Given the description of an element on the screen output the (x, y) to click on. 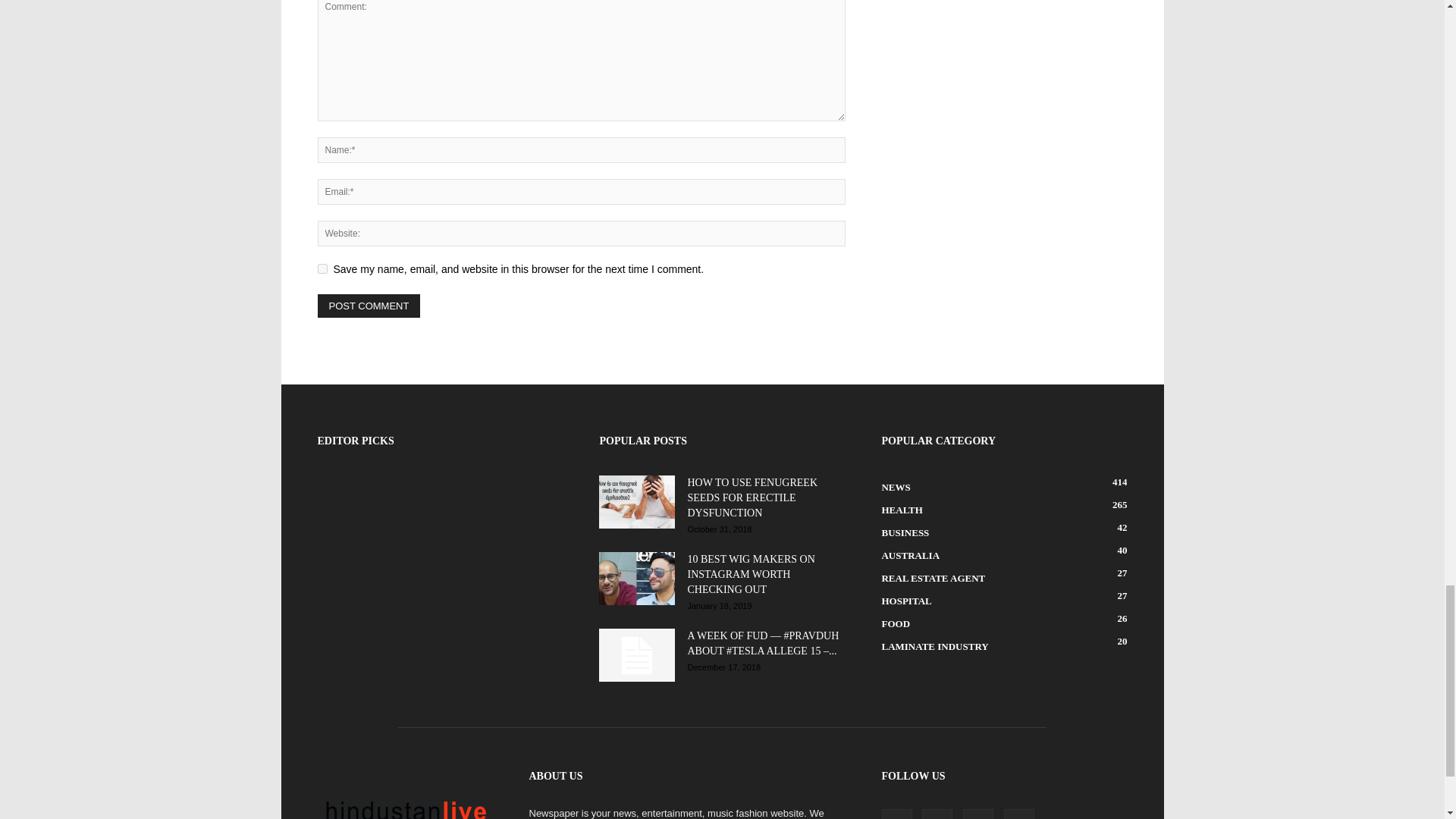
yes (321, 268)
Post Comment (368, 305)
